Given the description of an element on the screen output the (x, y) to click on. 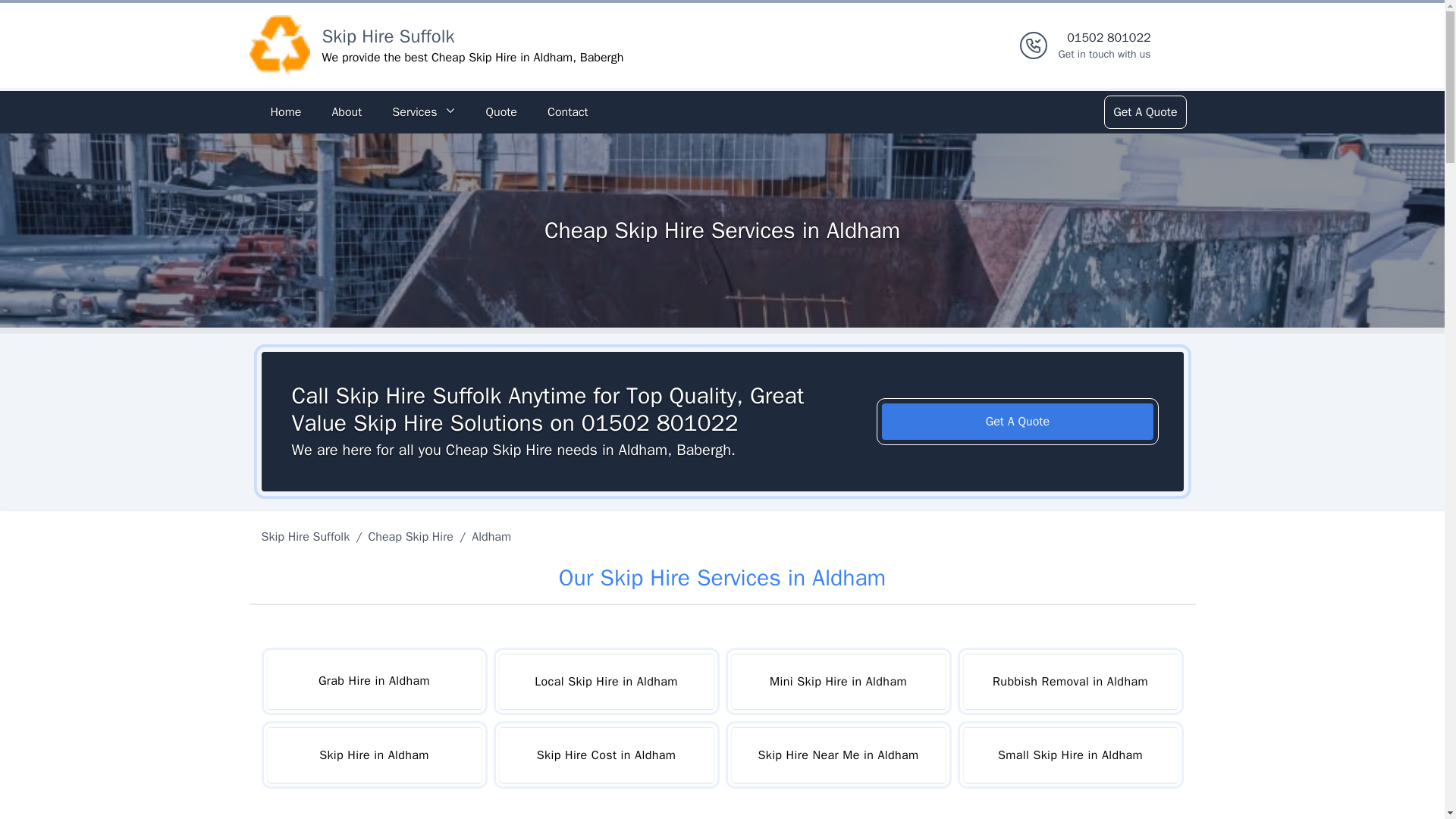
Get A Quote (1017, 421)
Local Skip Hire in Aldham (606, 681)
Small Skip Hire in Aldham (1069, 754)
Skip Hire in Aldham (373, 754)
Skip Hire Suffolk (387, 36)
Quote (500, 112)
Skip Hire Suffolk (307, 536)
Skip Hire Near Me in Aldham (837, 754)
Rubbish Removal in Aldham (1069, 681)
Grab Hire in Aldham (373, 681)
